Given the description of an element on the screen output the (x, y) to click on. 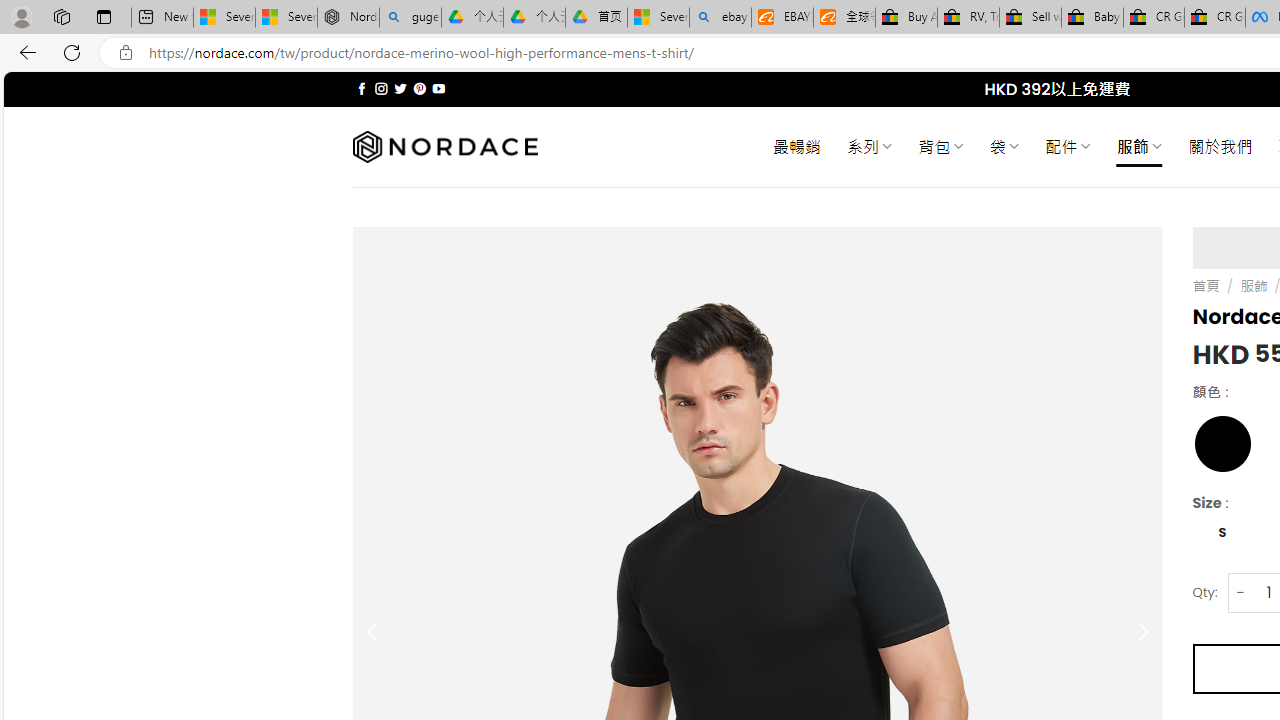
Baby Keepsakes & Announcements for sale | eBay (1092, 17)
Nordace (444, 147)
- (1240, 591)
RV, Trailer & Camper Steps & Ladders for sale | eBay (968, 17)
